Given the description of an element on the screen output the (x, y) to click on. 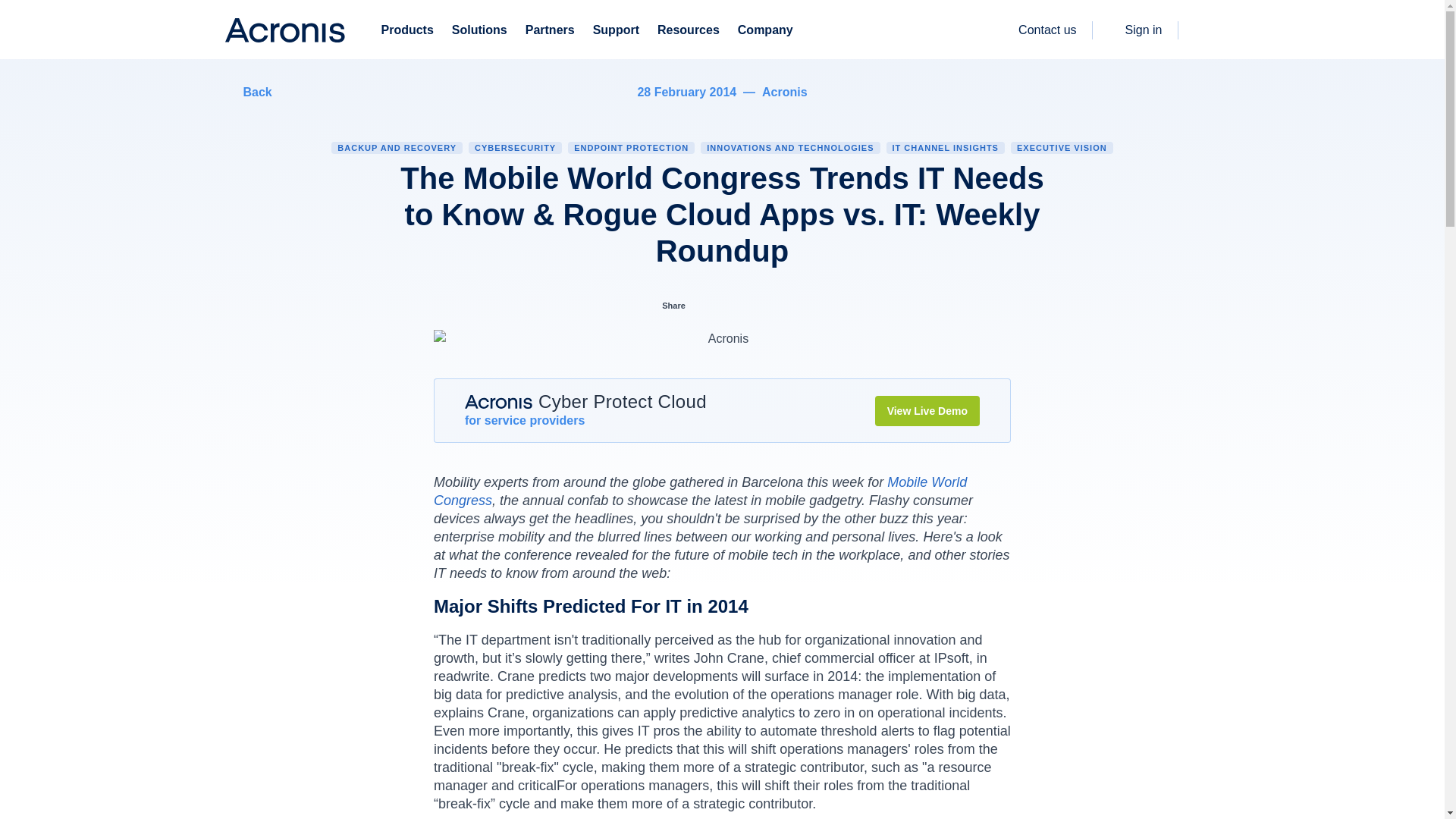
Acronis (283, 30)
Acronis (498, 400)
